Given the description of an element on the screen output the (x, y) to click on. 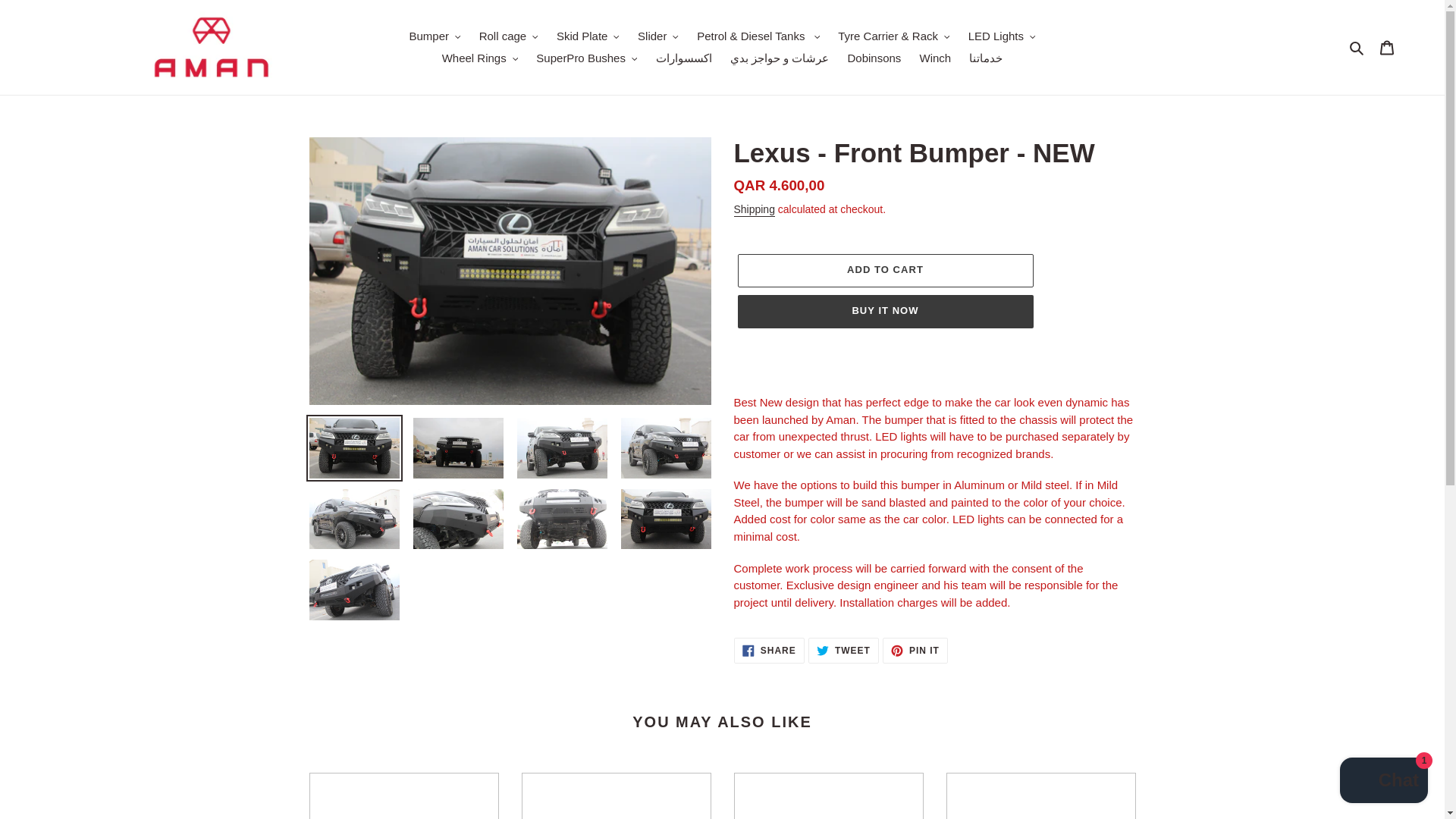
Roll cage (508, 36)
Shopify online store chat (1383, 781)
Skid Plate (587, 36)
Bumper (434, 36)
